Given the description of an element on the screen output the (x, y) to click on. 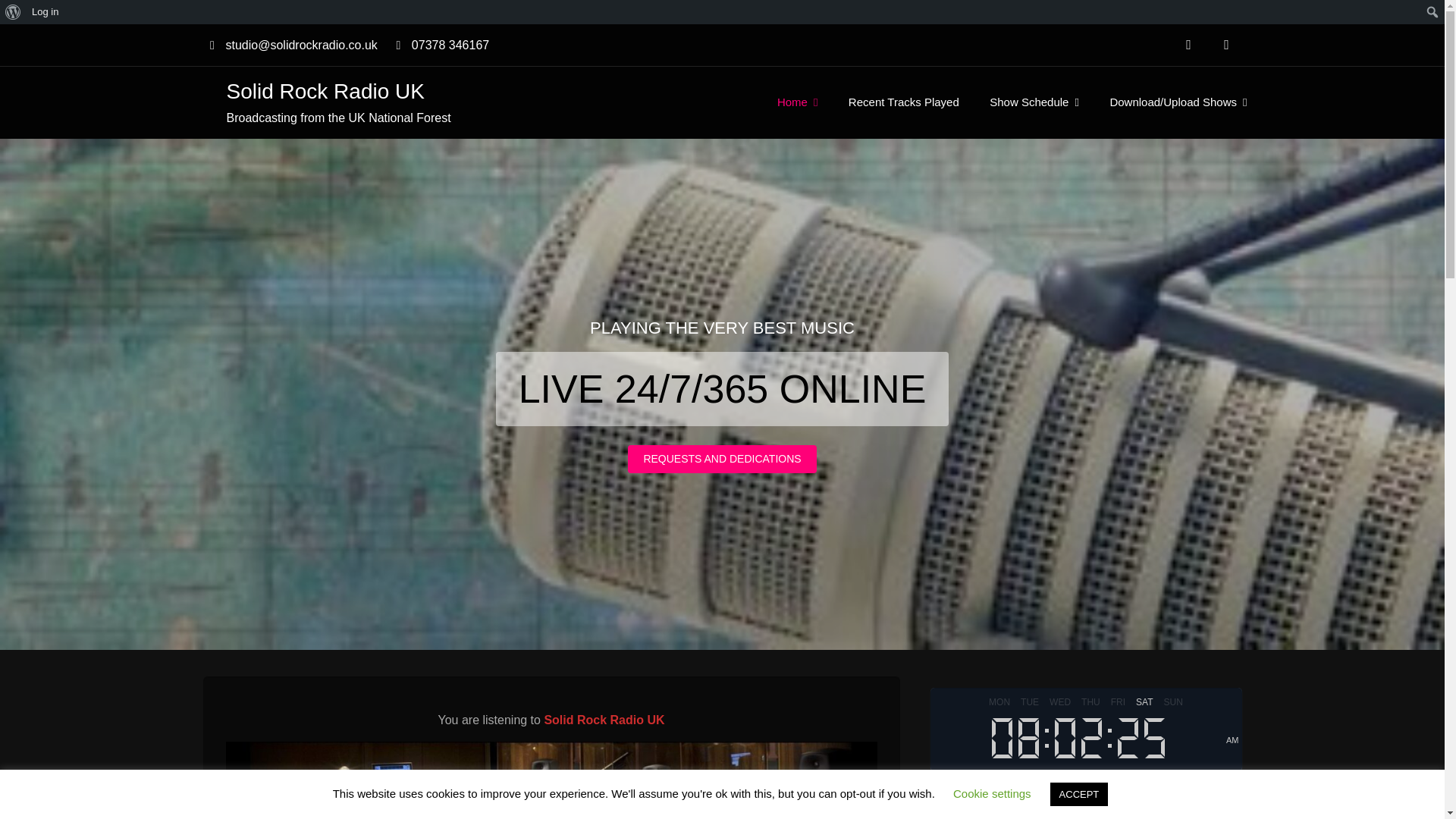
07378 346167 (438, 44)
REQUESTS AND DEDICATIONS (721, 459)
Solid Rock Radio UK (324, 91)
Home (796, 102)
Search (16, 12)
Recent Tracks Played (903, 102)
Log in (45, 12)
Show Schedule (1034, 102)
